Given the description of an element on the screen output the (x, y) to click on. 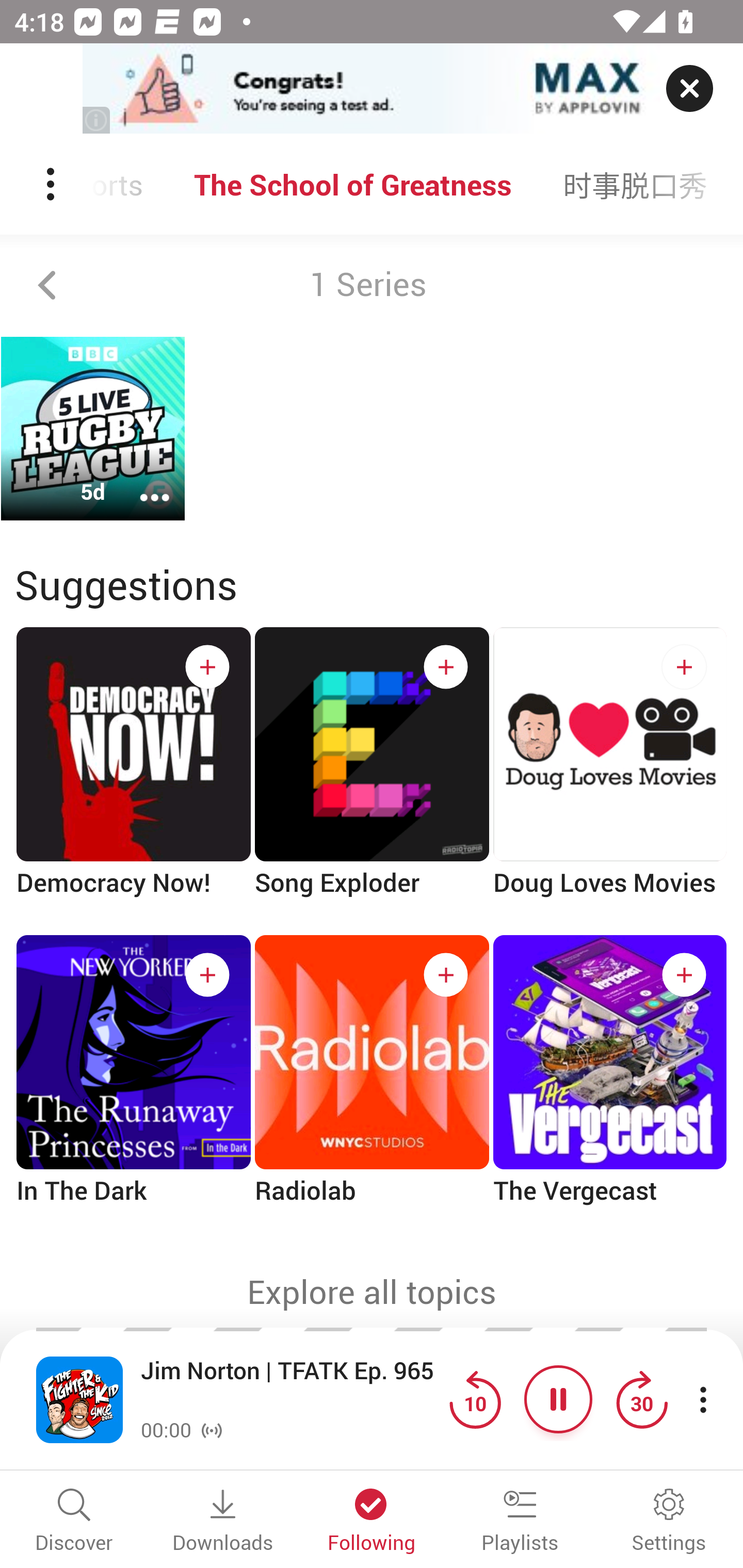
app-monetization (371, 88)
(i) (96, 119)
Menu (52, 184)
The School of Greatness (352, 184)
时事脱口秀 (634, 184)
1 Series (371, 285)
5 Live Rugby League 5d More options More options (92, 428)
More options (141, 484)
Democracy Now! Democracy Now! Subscribe button (133, 779)
Song Exploder Song Exploder Subscribe button (371, 779)
Subscribe button (207, 666)
Subscribe button (446, 666)
Subscribe button (684, 666)
In The Dark In The Dark Subscribe button (133, 1086)
Radiolab Radiolab Subscribe button (371, 1086)
The Vergecast The Vergecast Subscribe button (609, 1086)
Subscribe button (207, 974)
Subscribe button (446, 974)
Subscribe button (684, 974)
Explore all topics (371, 1291)
Open fullscreen player (79, 1399)
More player controls (703, 1399)
Jim Norton | TFATK Ep. 965 (290, 1385)
Pause button (558, 1398)
Jump back (475, 1399)
Jump forward (641, 1399)
Discover (74, 1521)
Downloads (222, 1521)
Following (371, 1521)
Playlists (519, 1521)
Settings (668, 1521)
